Given the description of an element on the screen output the (x, y) to click on. 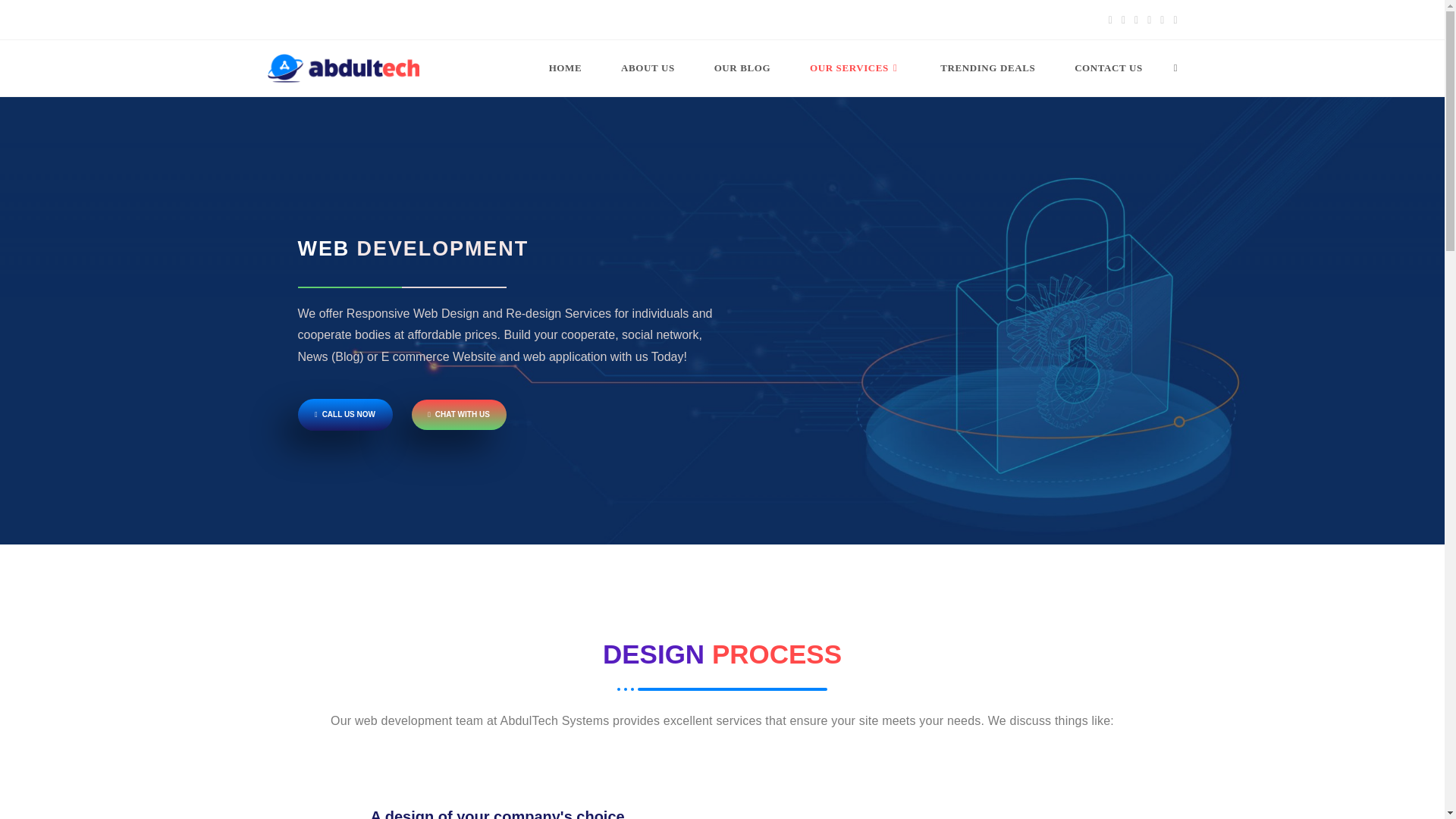
CALL US NOW (344, 414)
ABOUT US (647, 68)
CONTACT US (1107, 68)
HOME (565, 68)
OUR BLOG (742, 68)
OUR SERVICES (855, 68)
CHAT WITH US (457, 414)
TRENDING DEALS (987, 68)
